Given the description of an element on the screen output the (x, y) to click on. 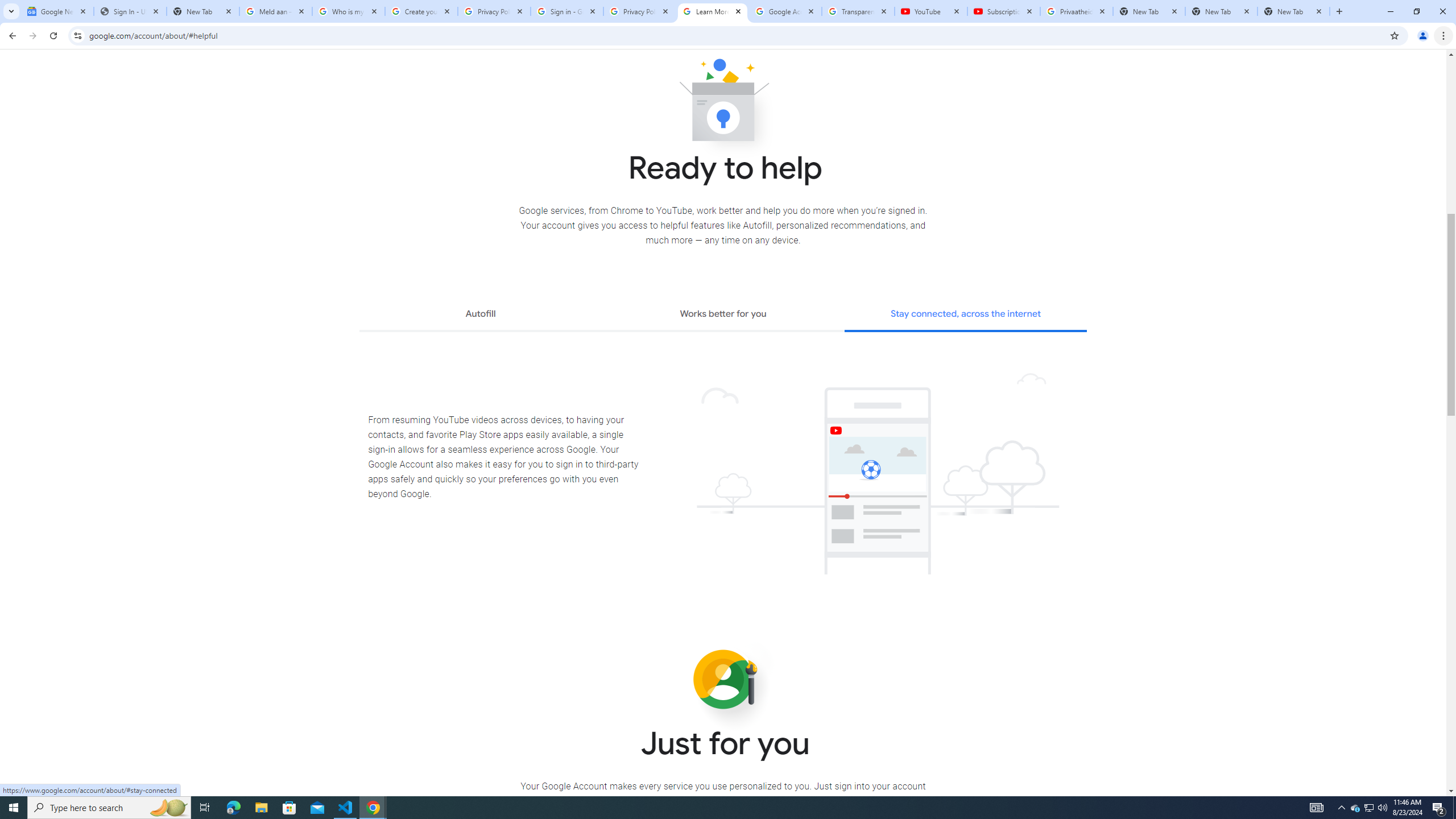
Google Account (785, 11)
New Tab (1293, 11)
Subscriptions - YouTube (1003, 11)
